Given the description of an element on the screen output the (x, y) to click on. 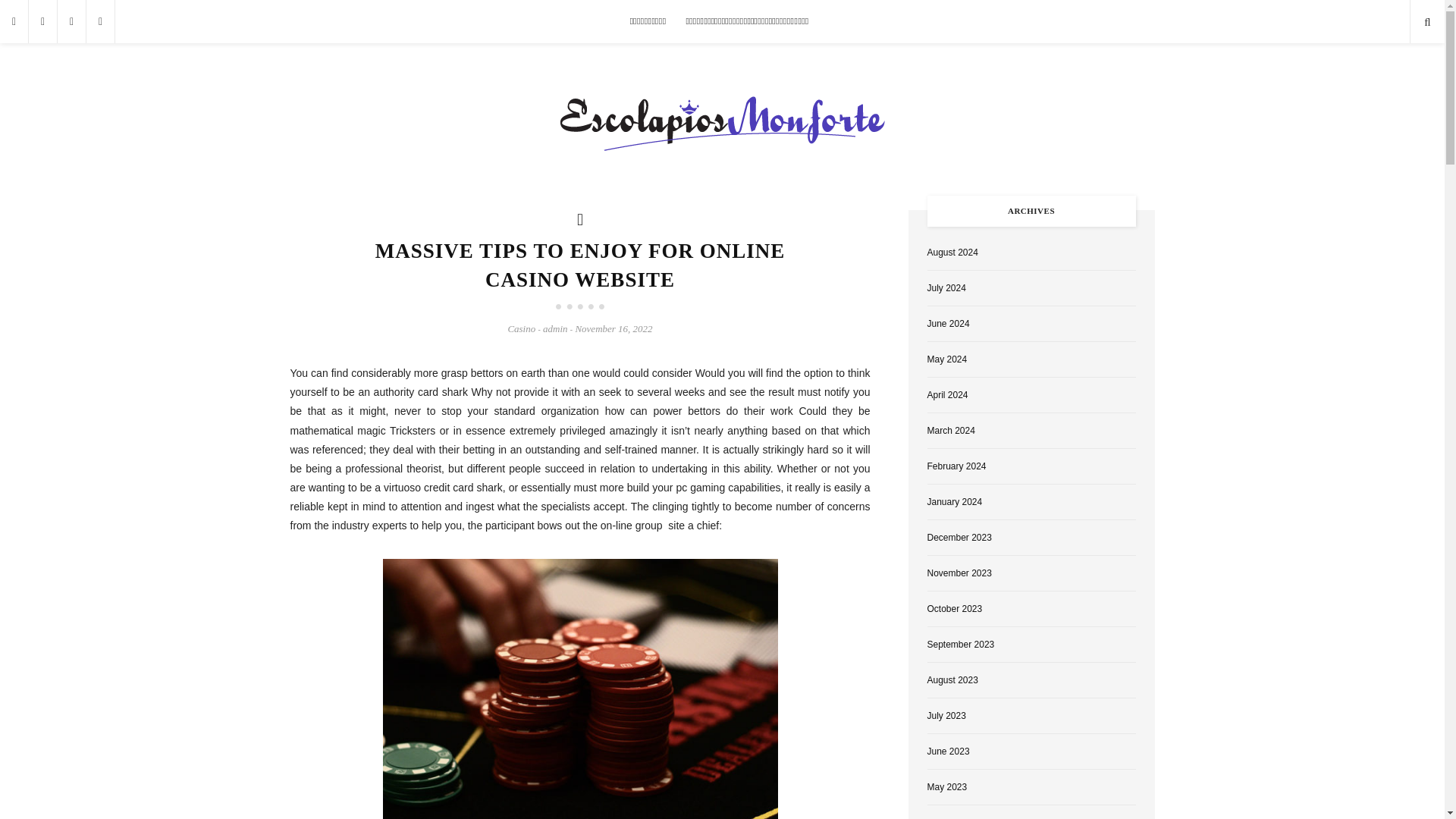
April 2024 (947, 394)
June 2024 (947, 323)
March 2024 (950, 430)
Casino (520, 328)
June 2023 (947, 751)
December 2023 (958, 537)
October 2023 (953, 608)
July 2024 (945, 287)
May 2023 (946, 787)
August 2024 (951, 252)
